Given the description of an element on the screen output the (x, y) to click on. 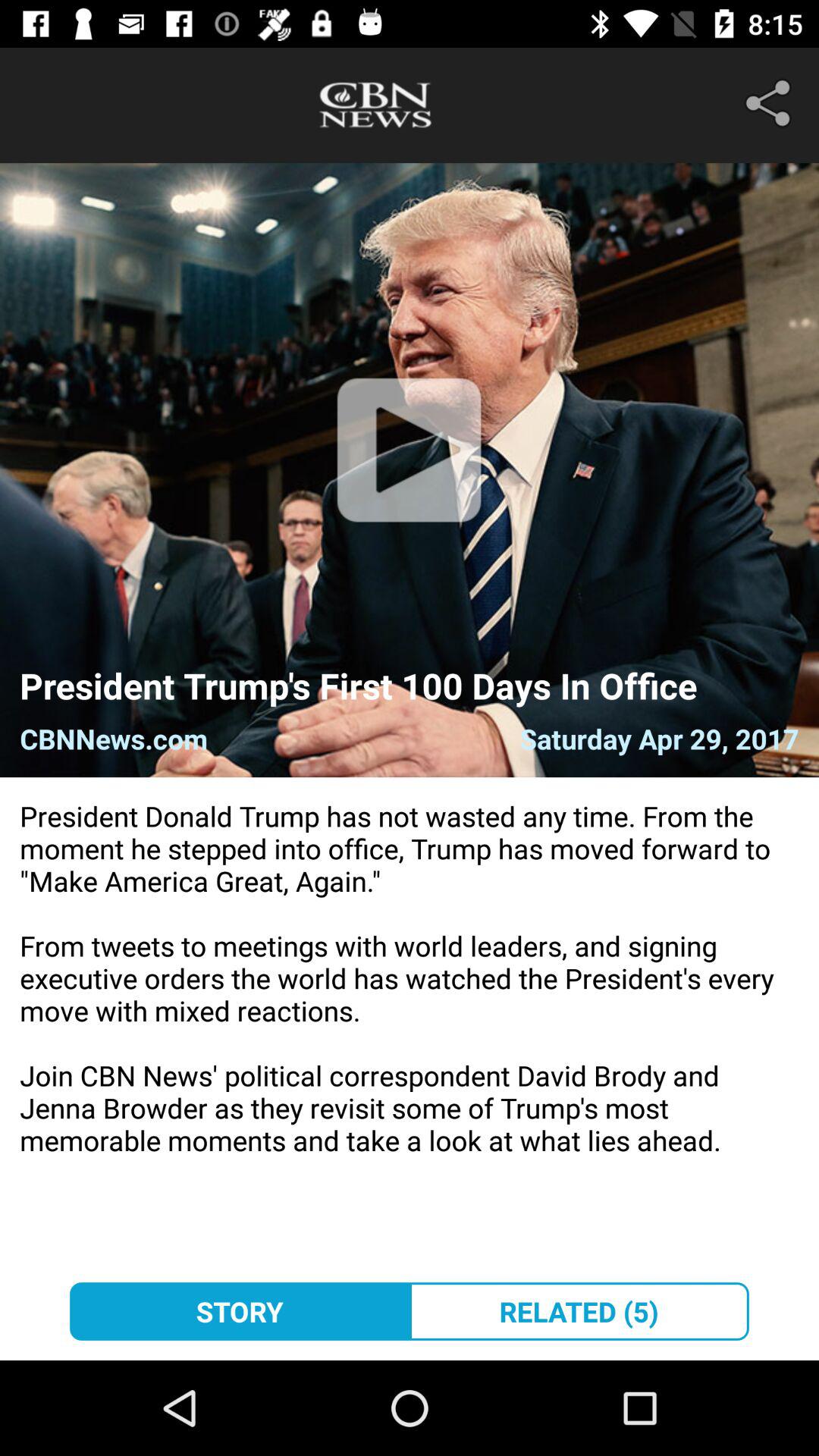
tap item above president trump s icon (409, 469)
